Given the description of an element on the screen output the (x, y) to click on. 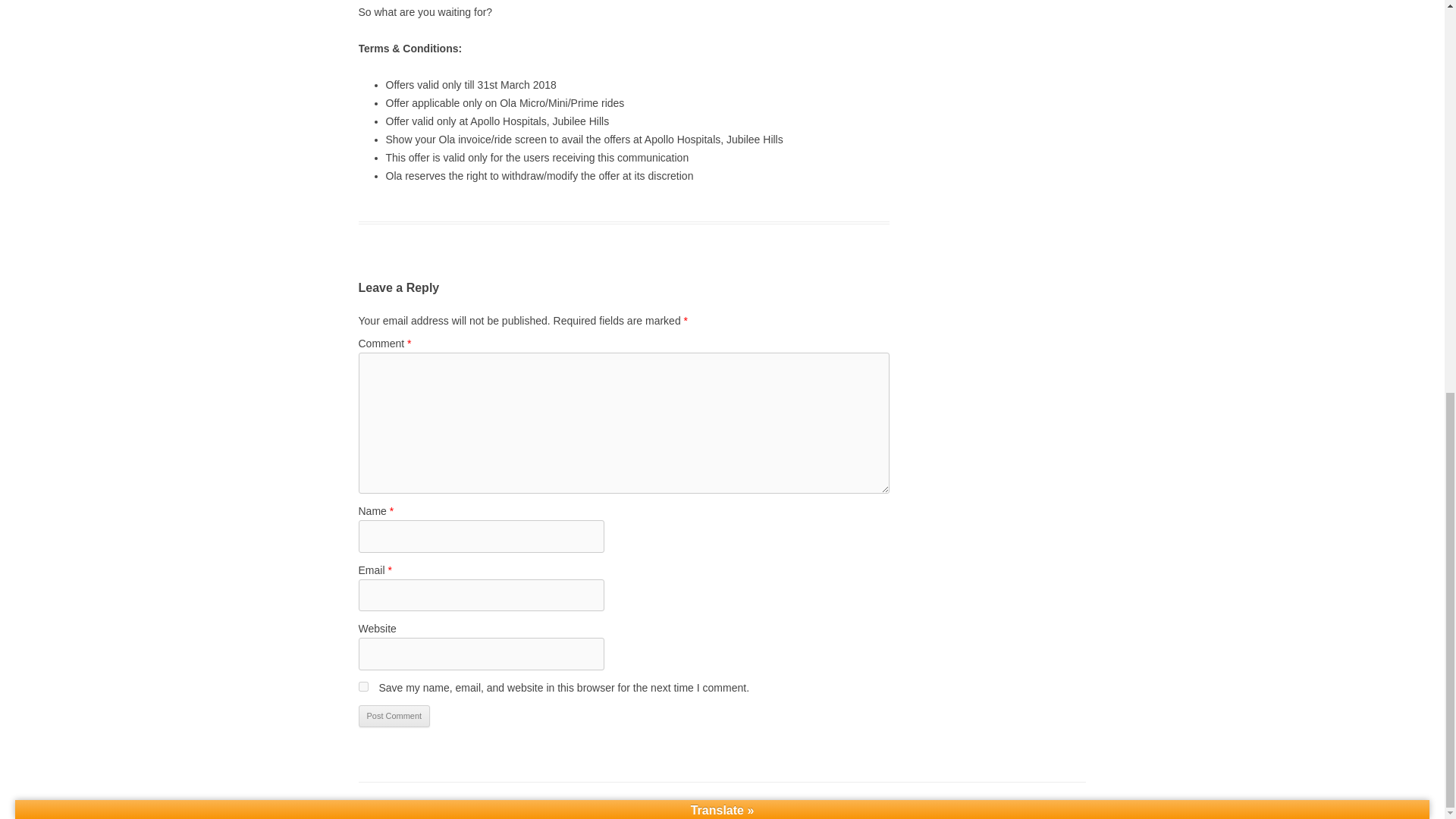
yes (363, 686)
Post Comment (393, 716)
Post Comment (393, 716)
